Given the description of an element on the screen output the (x, y) to click on. 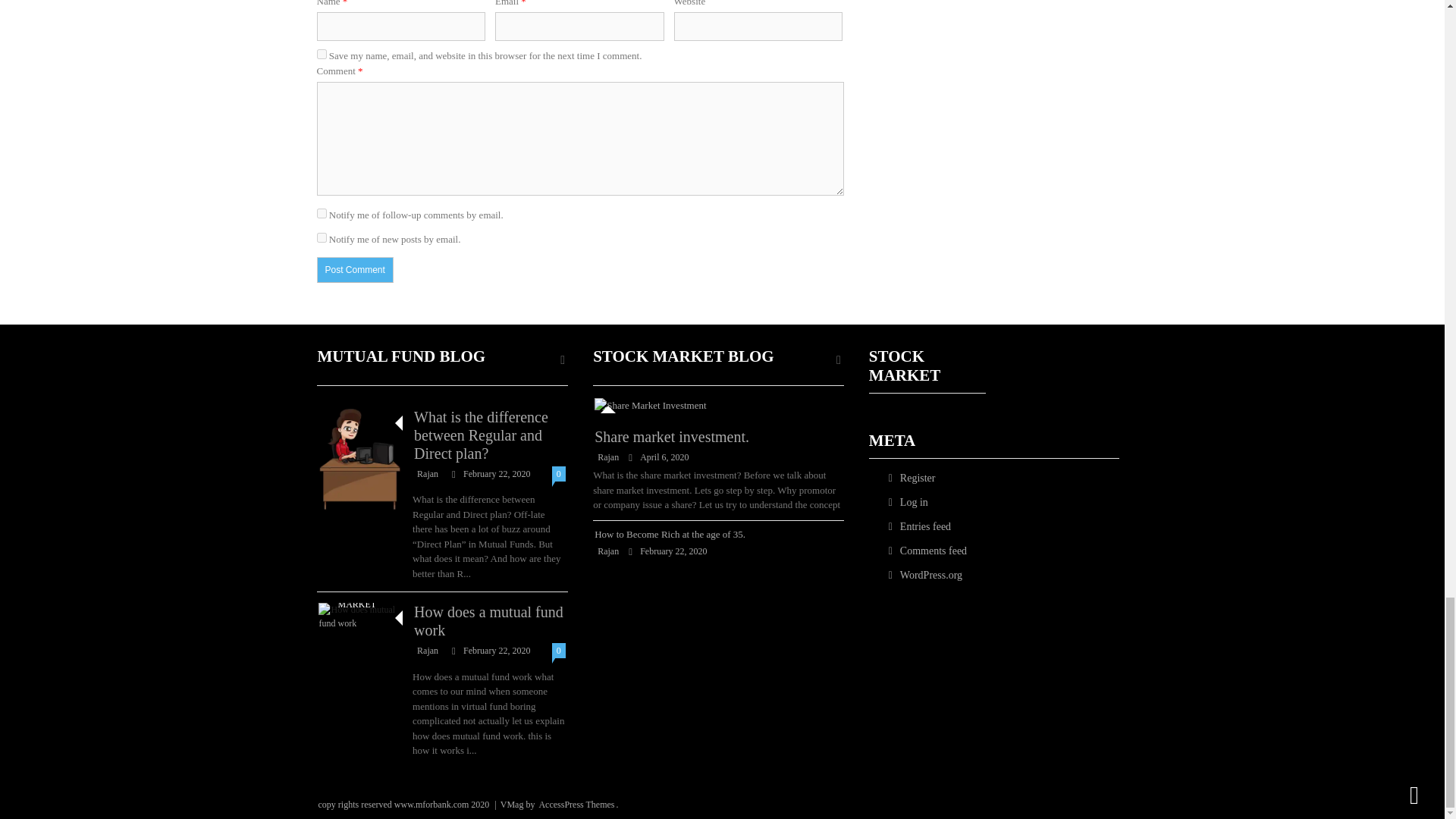
yes (321, 53)
Post Comment (355, 269)
subscribe (321, 237)
subscribe (321, 213)
